Given the description of an element on the screen output the (x, y) to click on. 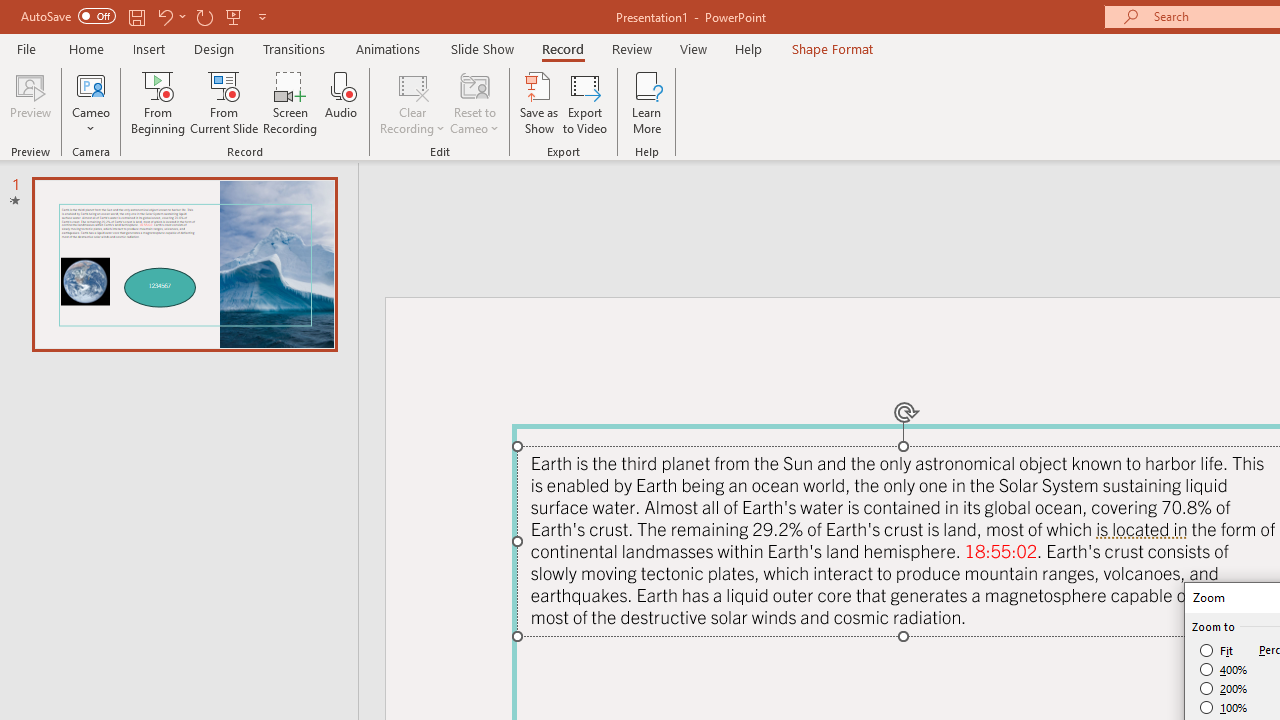
200% (1224, 688)
